Given the description of an element on the screen output the (x, y) to click on. 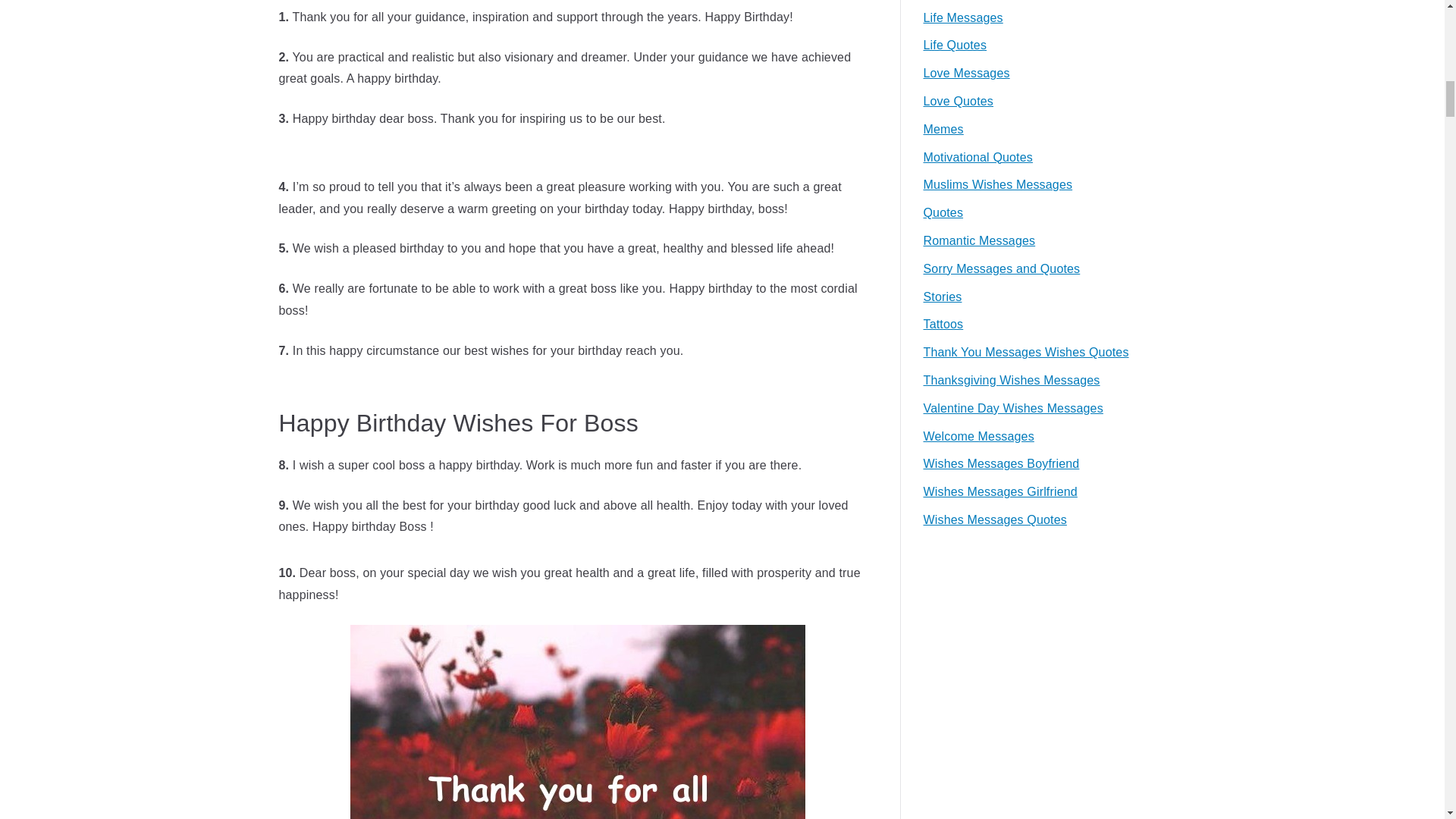
Happy Birthday Messages for Boss Happy birthday Images (577, 721)
